Given the description of an element on the screen output the (x, y) to click on. 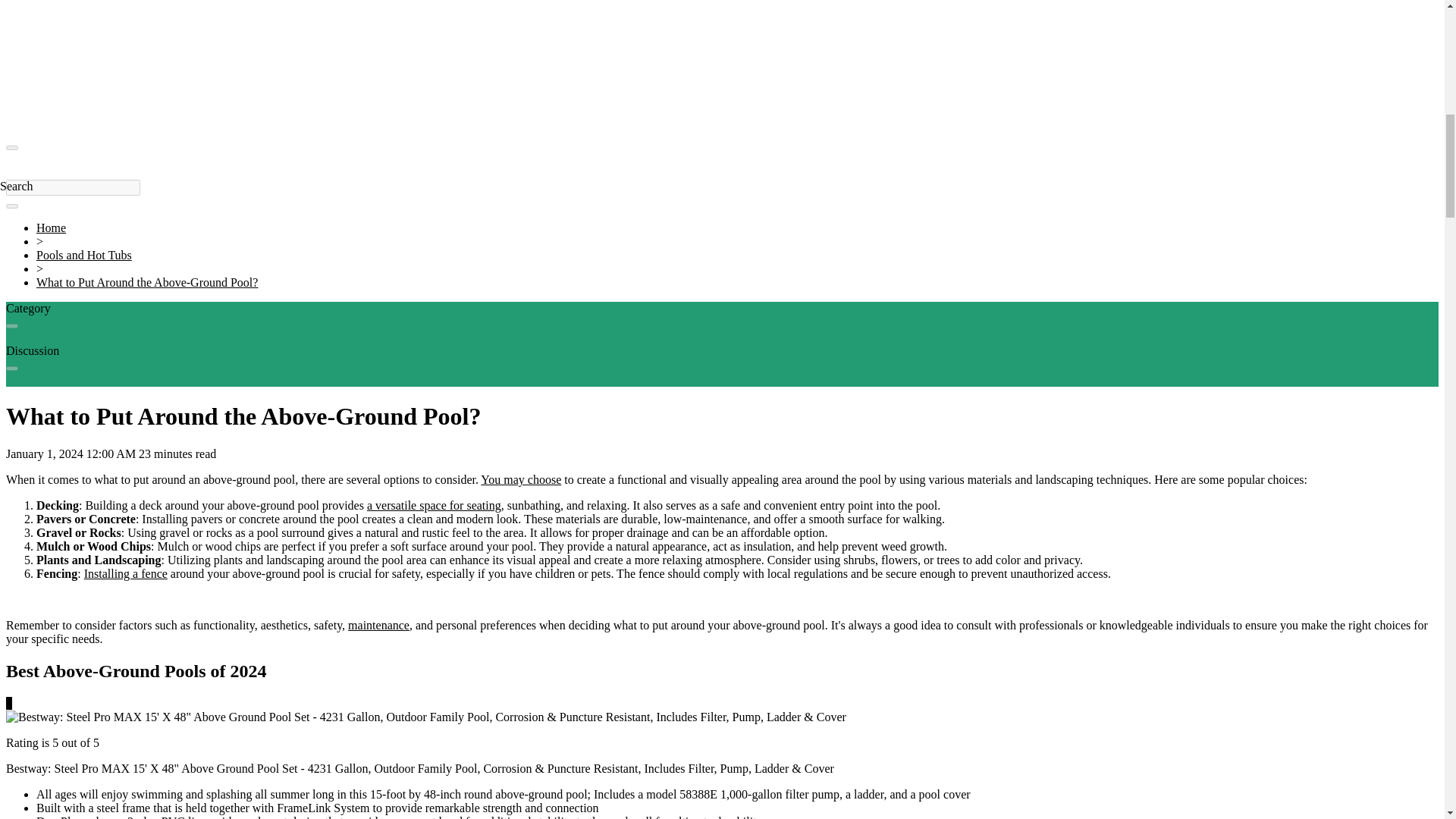
Installing a fence (125, 573)
Pools and Hot Tubs (84, 254)
Home (50, 227)
maintenance (378, 625)
What to Put Around the Above-Ground Pool? (146, 282)
a versatile space for seating (433, 504)
You may choose (520, 479)
